Given the description of an element on the screen output the (x, y) to click on. 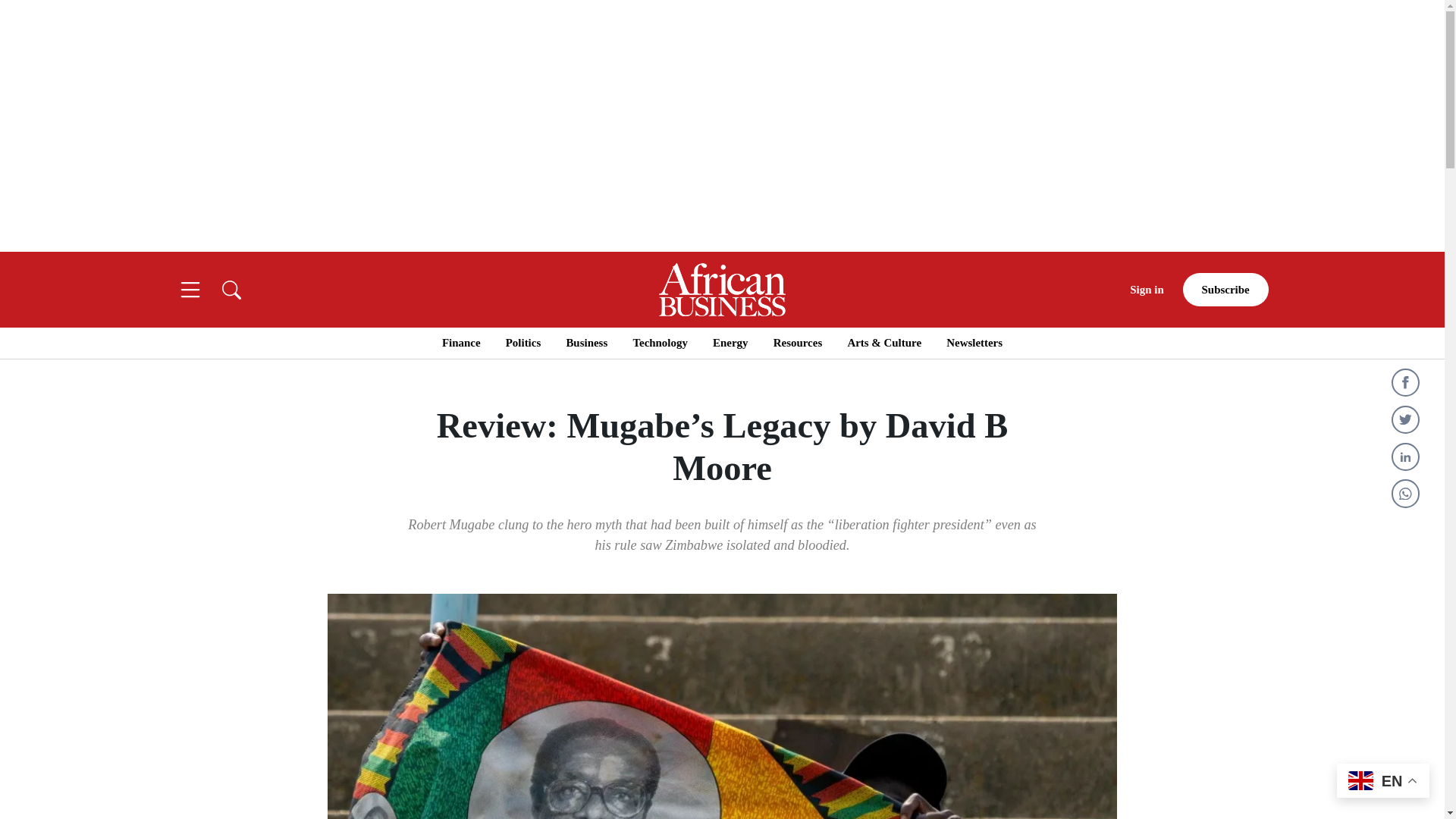
Politics (522, 342)
Newsletters (974, 342)
Subscribe (1225, 289)
Resources (797, 342)
Finance (461, 342)
Business (586, 342)
Sign in (1146, 289)
Technology (659, 342)
Energy (730, 342)
